Given the description of an element on the screen output the (x, y) to click on. 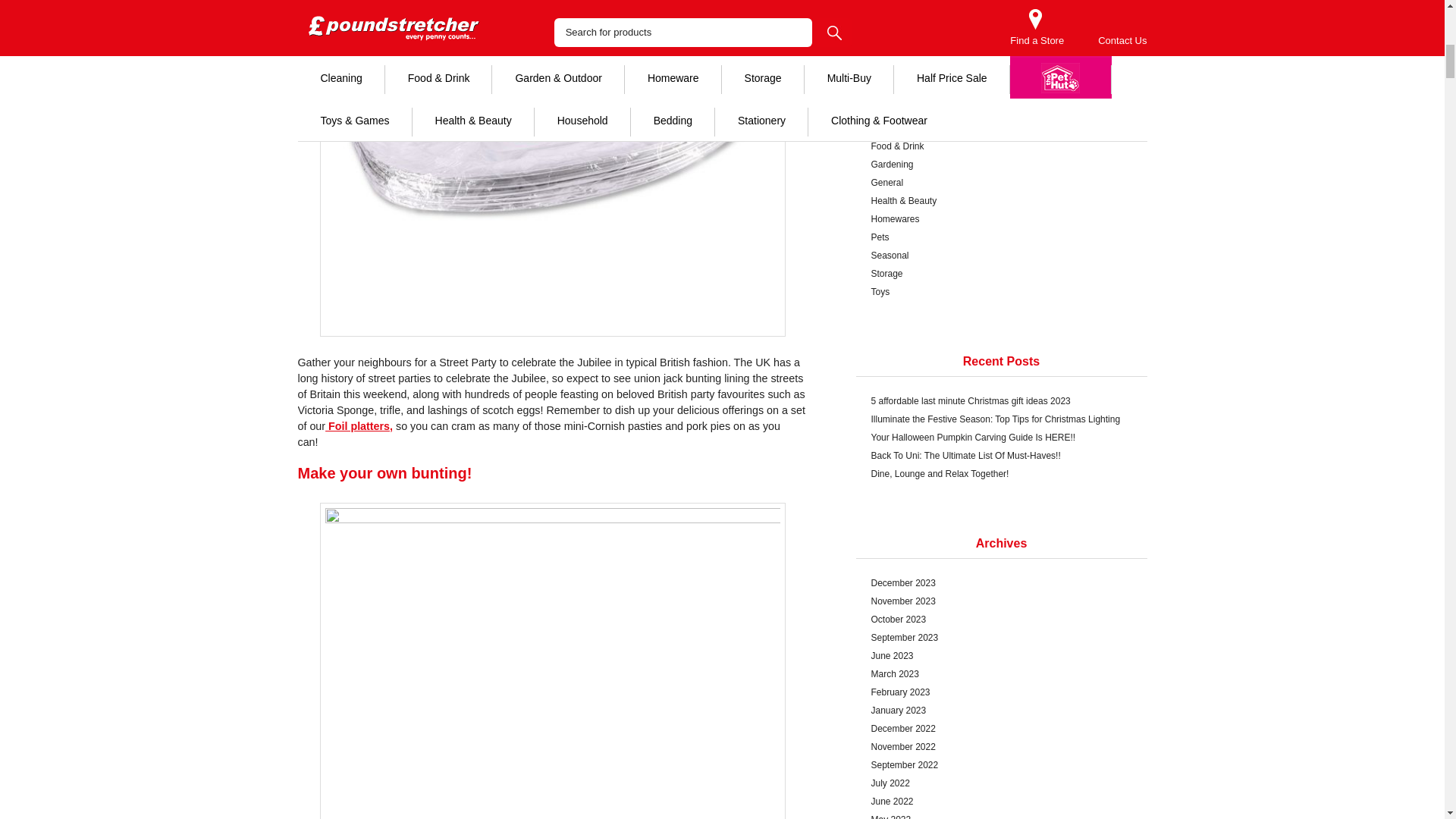
Cleaning (1000, 127)
General (1000, 182)
Gardening (1000, 164)
Homewares (1000, 218)
Pets (1000, 237)
